Given the description of an element on the screen output the (x, y) to click on. 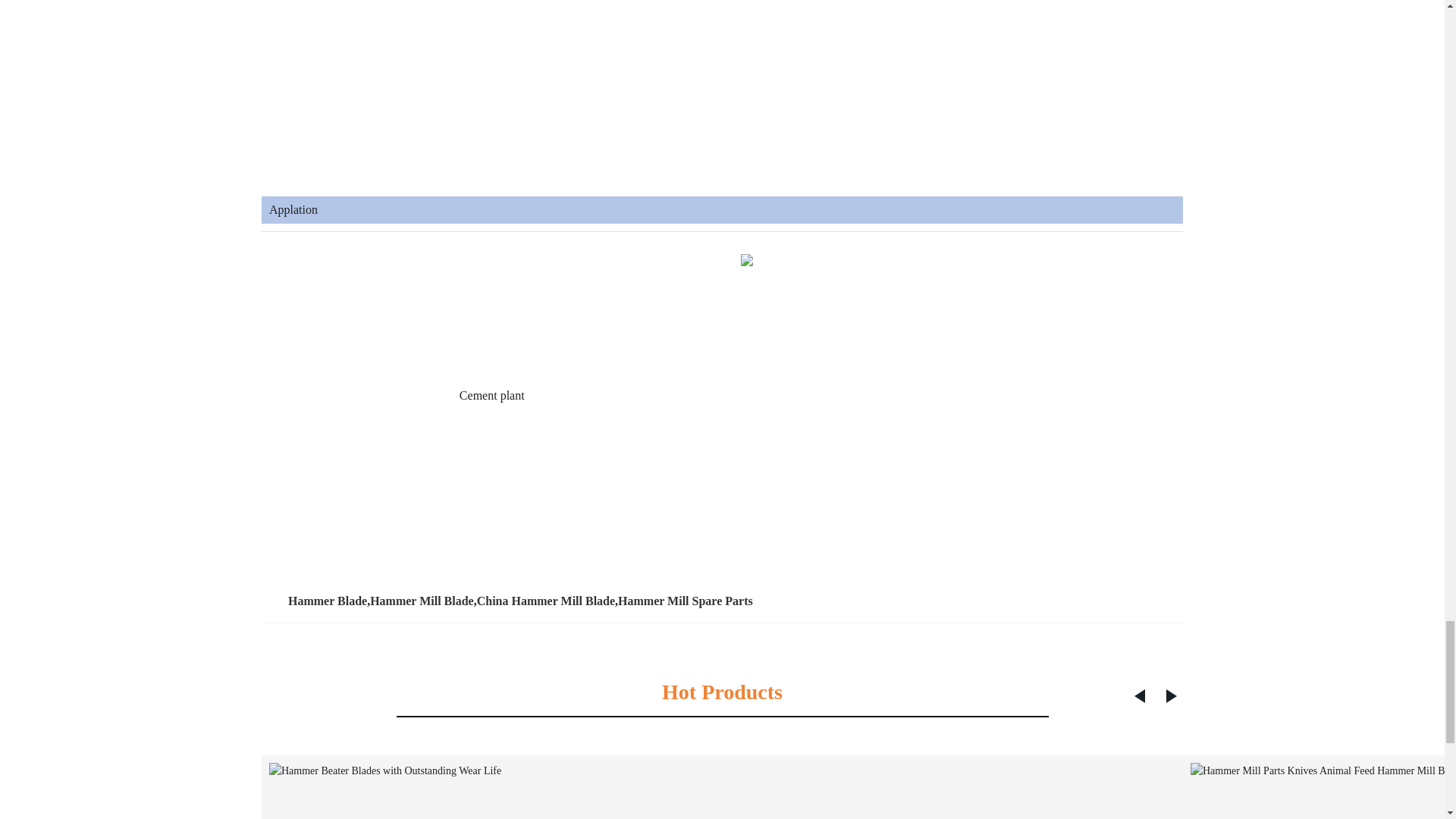
Hammer Blade (327, 600)
China Hammer Mill Blade (545, 600)
Hammer Mill Spare Parts (684, 600)
Hammer Mill Blade (421, 600)
